Given the description of an element on the screen output the (x, y) to click on. 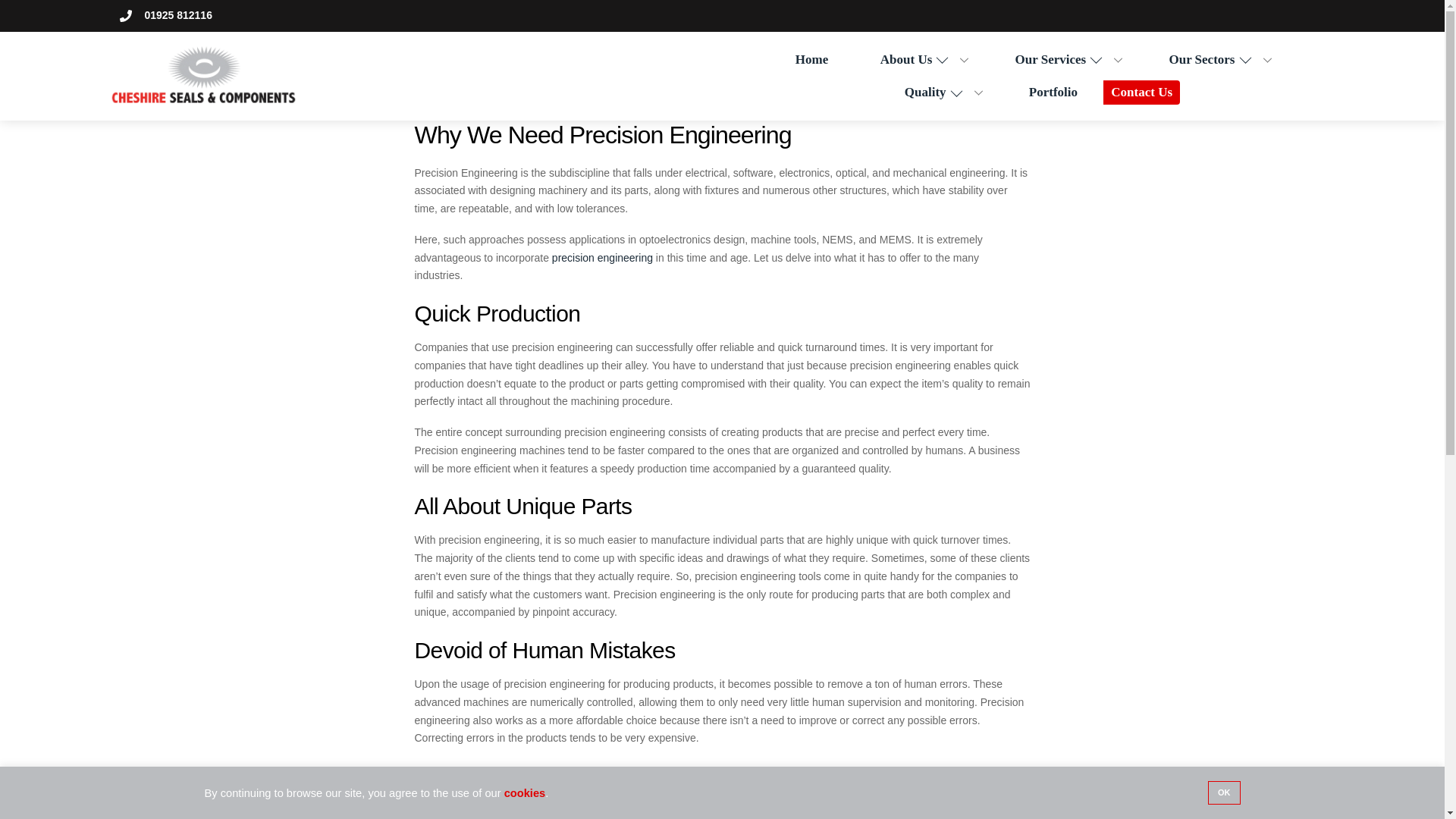
About Us (921, 59)
Home (811, 59)
01925 812116 (165, 15)
Asset 1 (202, 75)
Our Services (1065, 59)
Our Sectors (1217, 59)
